Given the description of an element on the screen output the (x, y) to click on. 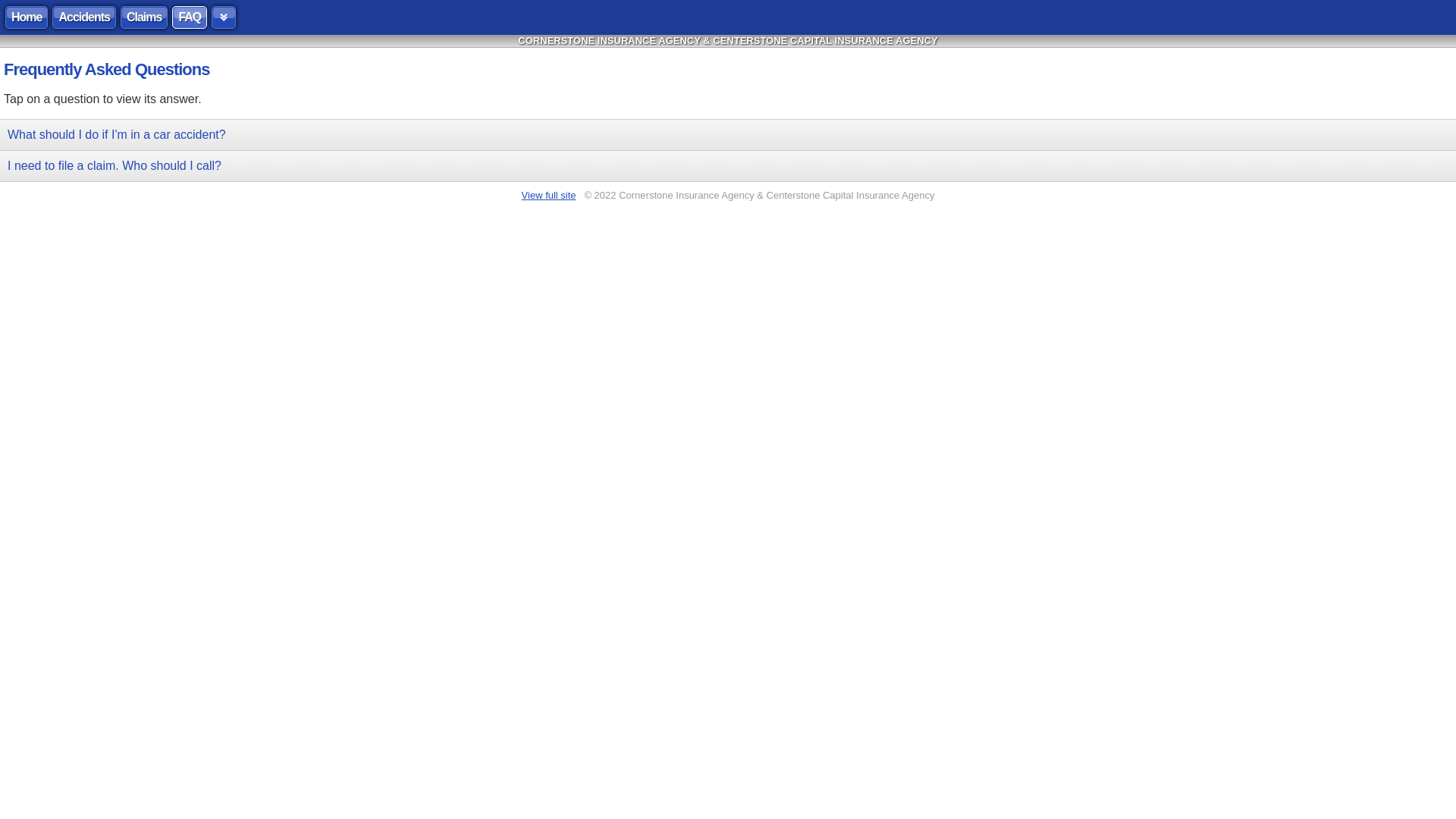
View full site Element type: text (548, 194)
Claims Element type: text (143, 17)
Home Element type: text (26, 17)
Accidents Element type: text (83, 17)
FAQ Element type: text (189, 17)
